Given the description of an element on the screen output the (x, y) to click on. 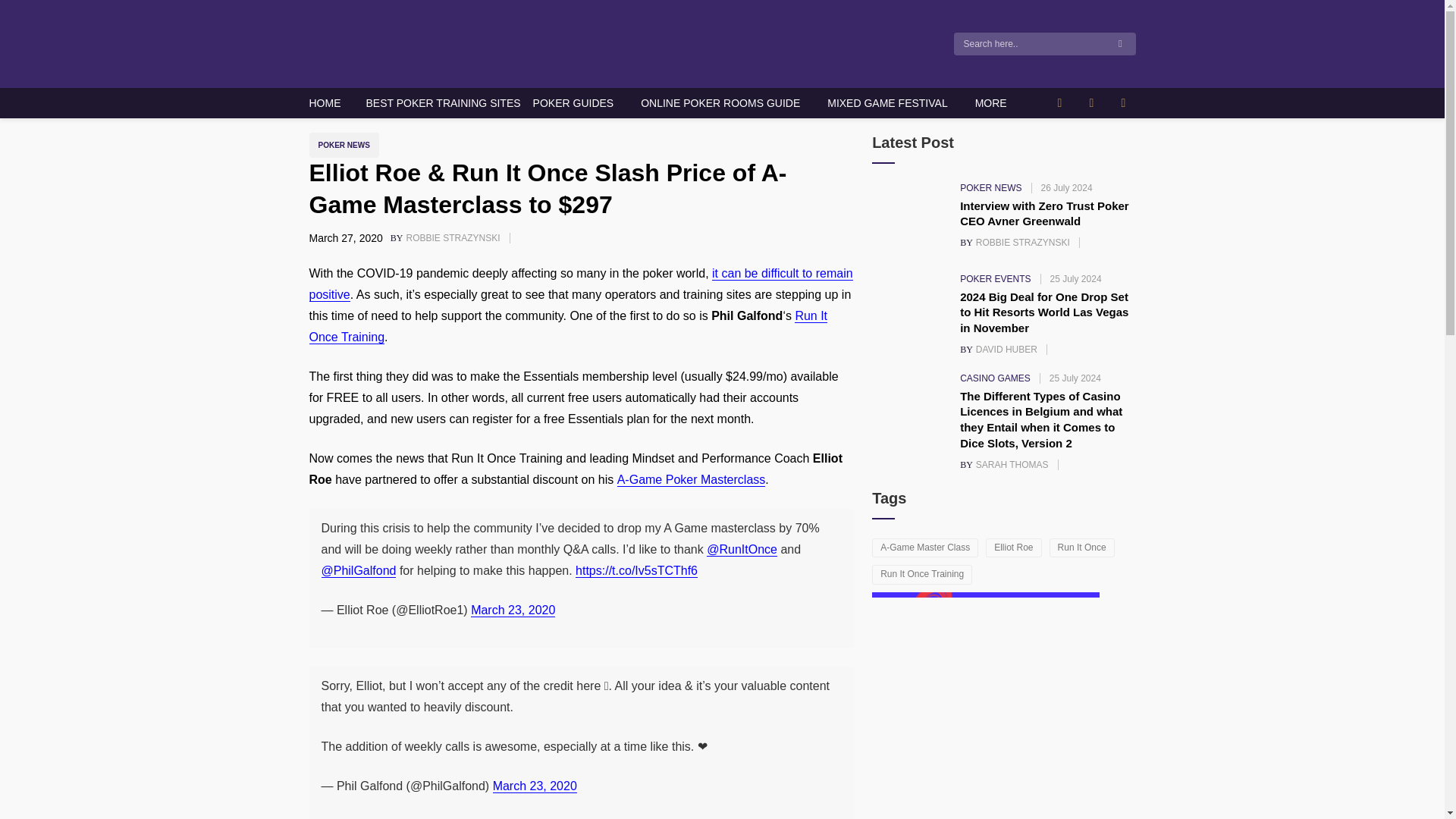
ONLINE POKER ROOMS GUIDE (719, 102)
POKER NEWS (377, 93)
BEST POKER TRAINING SITES (442, 102)
it can be difficult to remain positive (580, 284)
March 23, 2020 (512, 610)
Run It Once Training (568, 326)
POKER GUIDES (573, 102)
MIXED GAME FESTIVAL (887, 102)
HOME (454, 237)
A-Game Poker Masterclass (324, 102)
MORE (691, 479)
Home (991, 102)
